Given the description of an element on the screen output the (x, y) to click on. 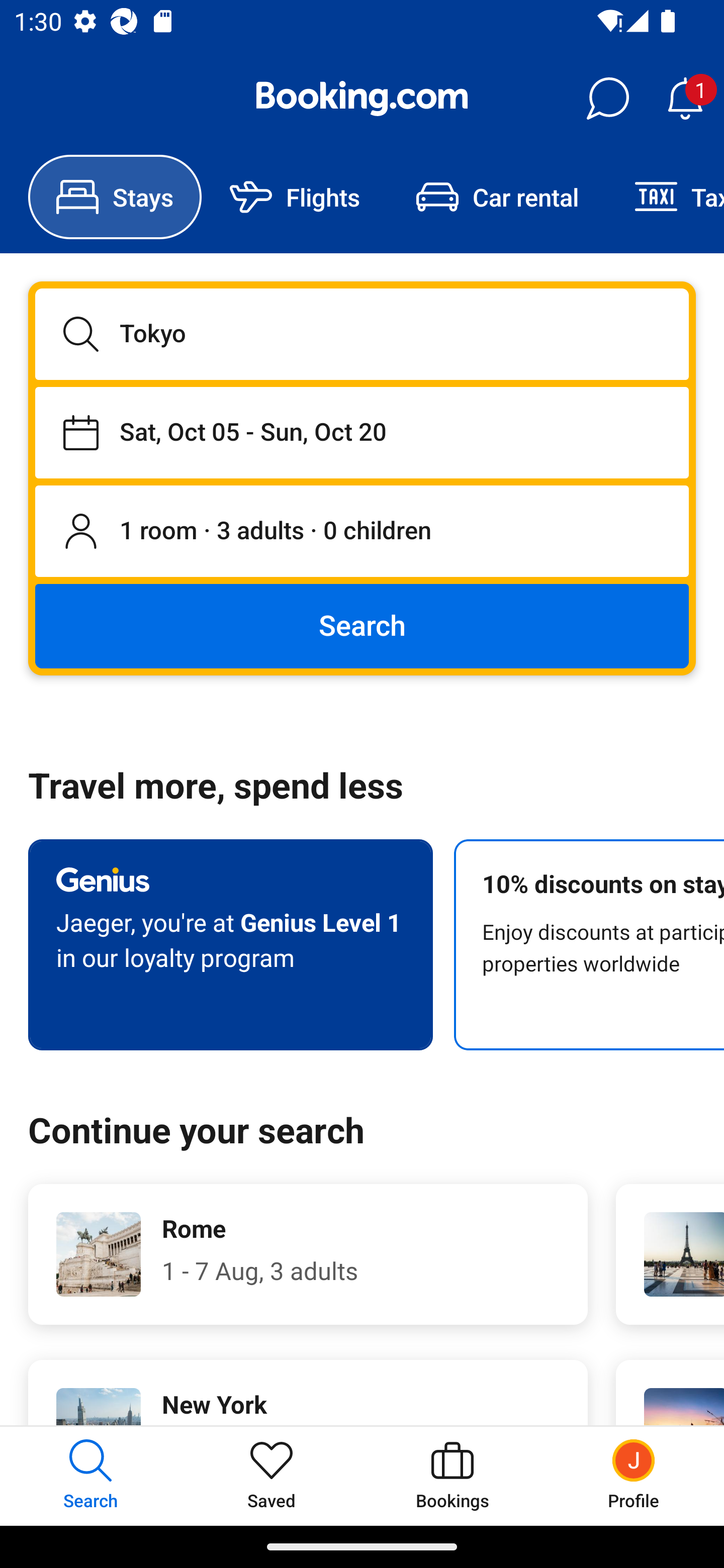
Messages (607, 98)
Notifications (685, 98)
Stays (114, 197)
Flights (294, 197)
Car rental (497, 197)
Taxi (665, 197)
Tokyo (361, 333)
Staying from Sat, Oct 05 until Sun, Oct 20 (361, 432)
1 room, 3 adults, 0 children (361, 531)
Search (361, 625)
Rome 1 - 7 Aug, 3 adults (307, 1253)
Saved (271, 1475)
Bookings (452, 1475)
Profile (633, 1475)
